Given the description of an element on the screen output the (x, y) to click on. 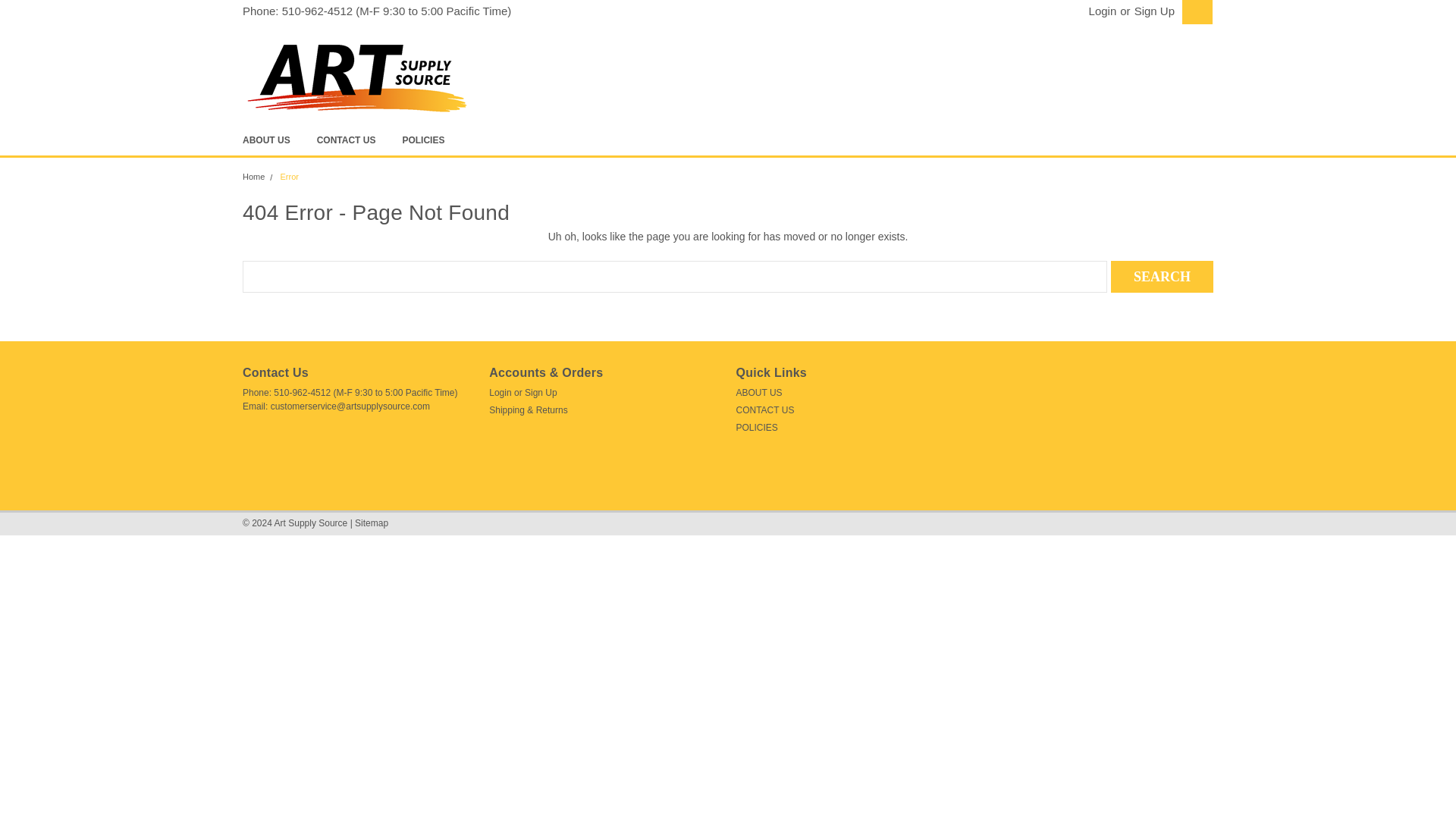
Login (1102, 11)
Search (1161, 276)
Sign Up (1152, 11)
Noteworthy Goods (356, 75)
